Given the description of an element on the screen output the (x, y) to click on. 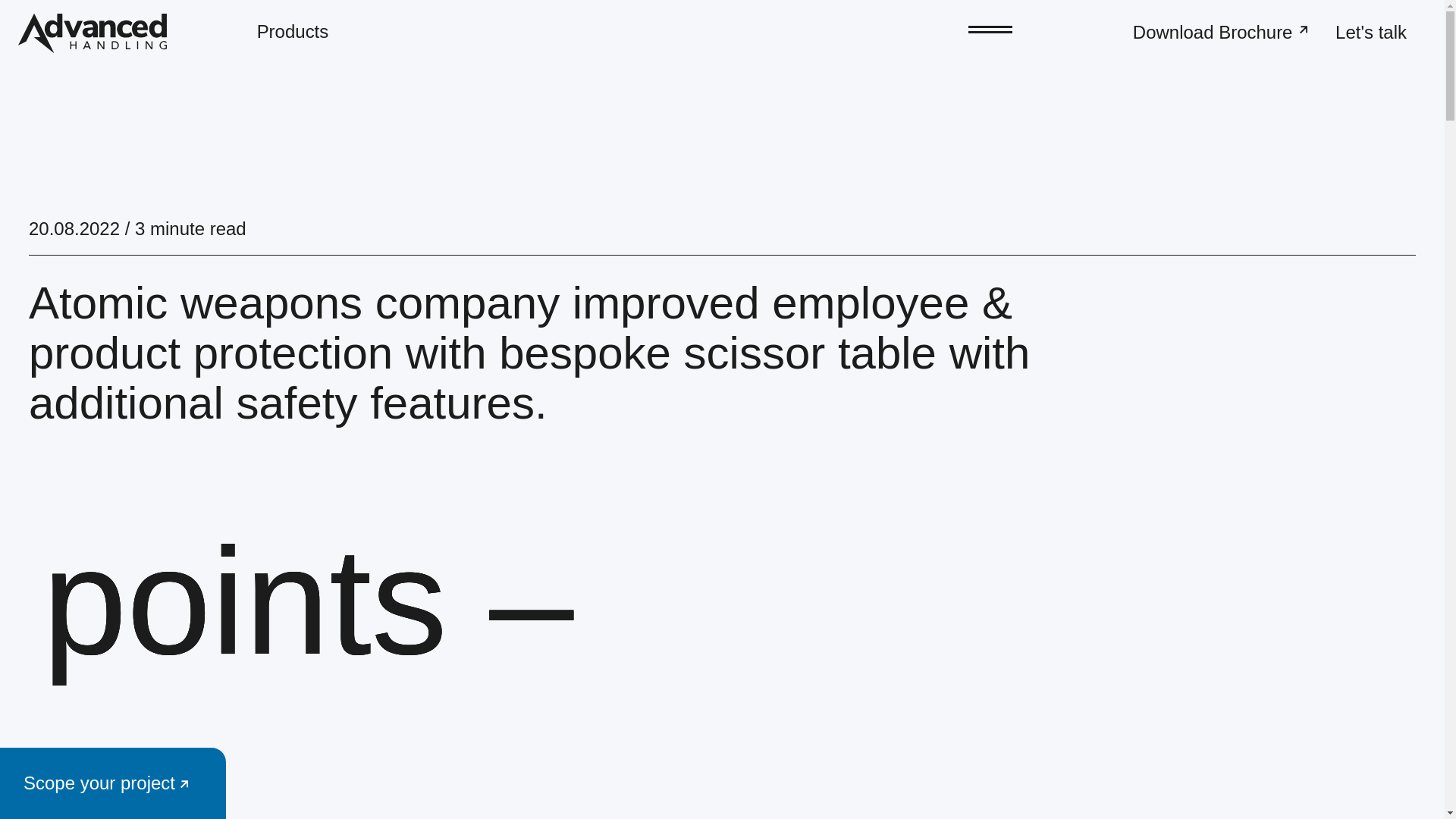
Home (92, 33)
Scope your project (112, 783)
Products (293, 31)
Download Brochure (1222, 32)
Let's talk (1370, 32)
